Given the description of an element on the screen output the (x, y) to click on. 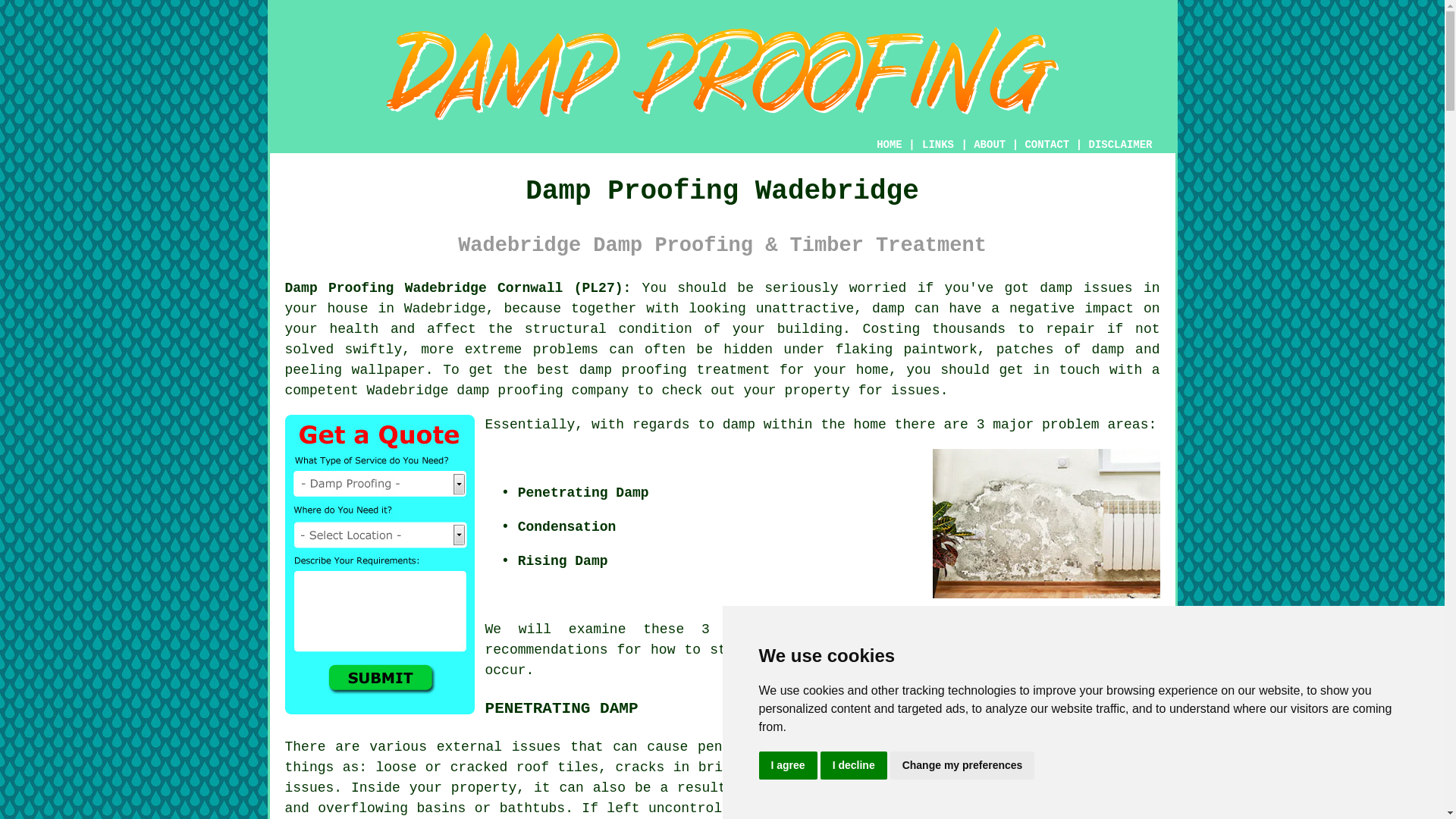
damp problems (917, 629)
LINKS (938, 144)
damp (738, 424)
Damp Proofing Wadebridge (722, 73)
I decline (853, 765)
I agree (787, 765)
HOME (889, 144)
damp proofing (509, 390)
Change my preferences (962, 765)
